Given the description of an element on the screen output the (x, y) to click on. 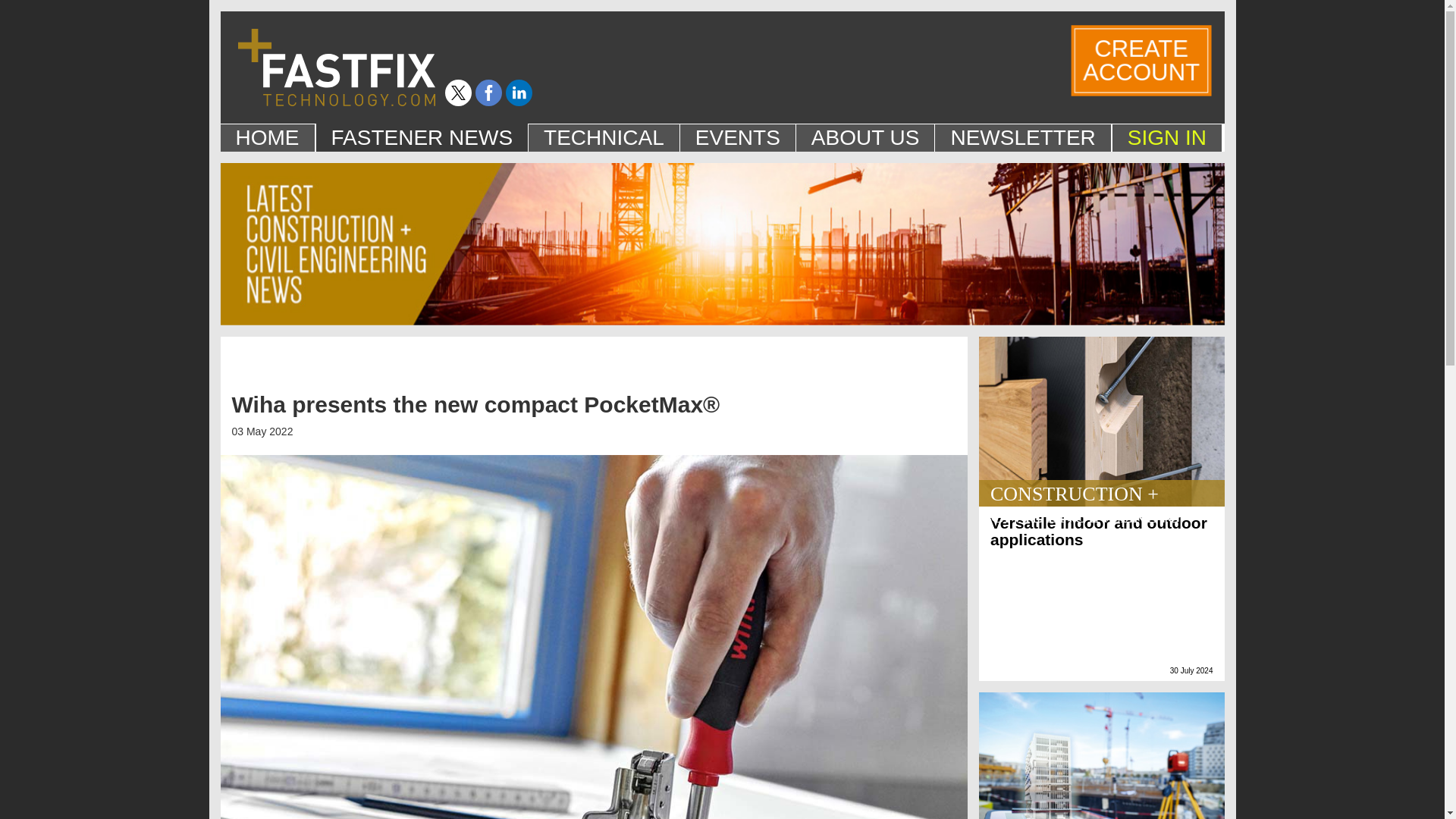
SIGN IN (1167, 137)
EVENTS (736, 137)
HOME (266, 137)
ABOUT US (865, 137)
FASTENER NEWS (421, 137)
NEWSLETTER (1137, 59)
TECHNICAL (1021, 137)
